Given the description of an element on the screen output the (x, y) to click on. 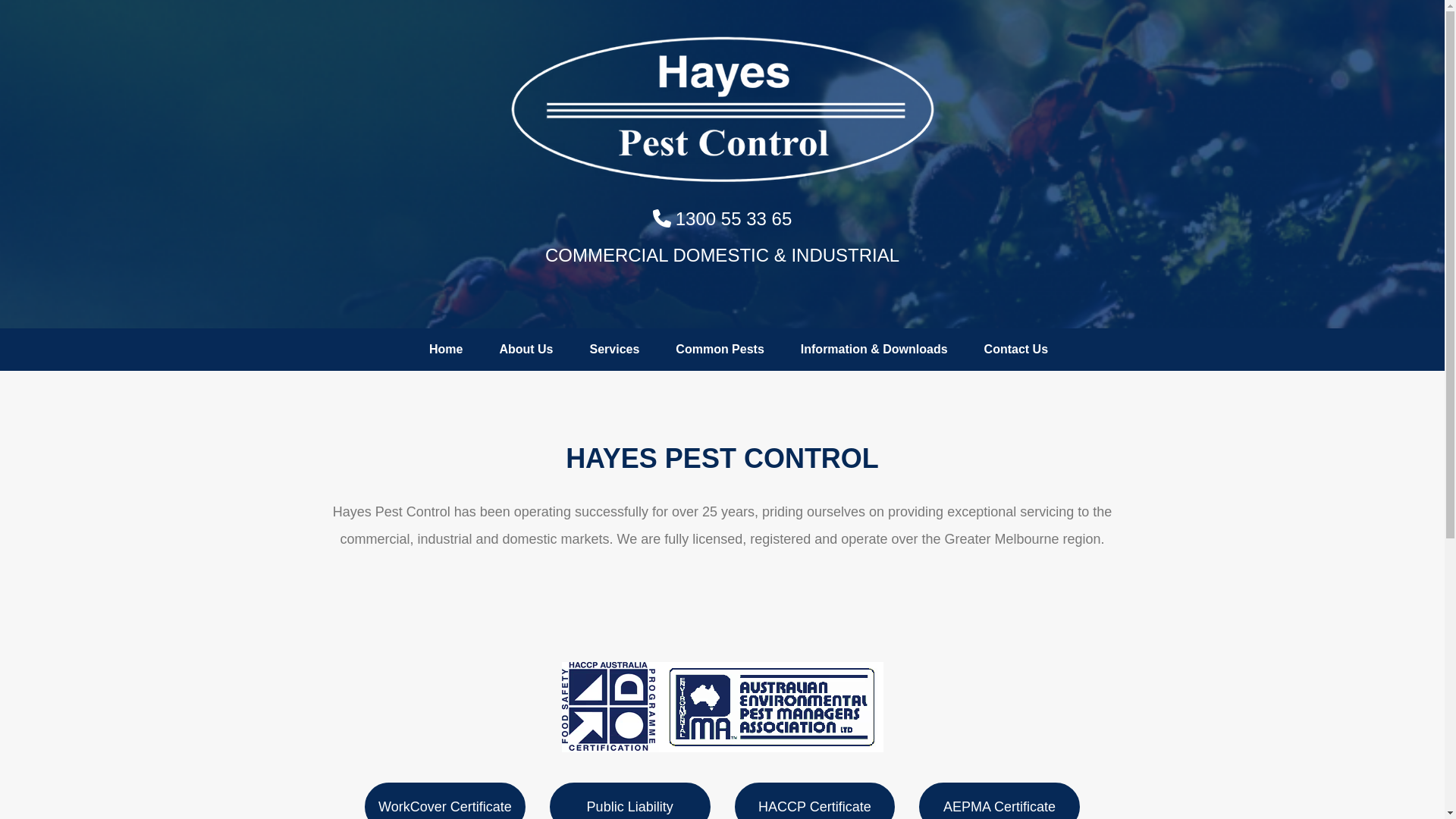
Contact Us Element type: text (1016, 349)
About Us Element type: text (525, 349)
Common Pests Element type: text (719, 349)
1300 55 33 65 Element type: text (721, 218)
Services Element type: text (614, 349)
Information & Downloads Element type: text (873, 349)
Home Element type: text (445, 349)
